Given the description of an element on the screen output the (x, y) to click on. 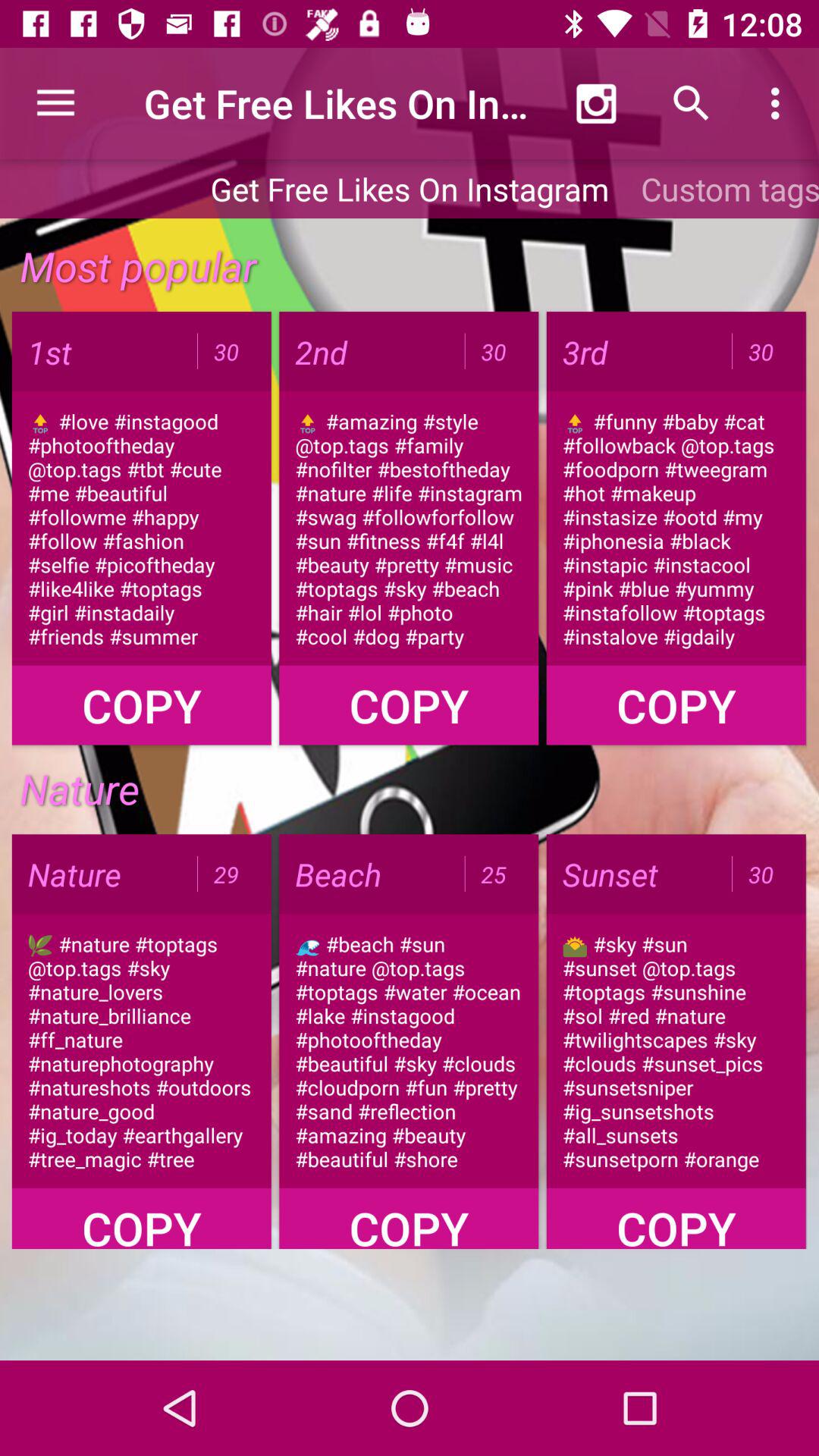
select app above the custom tags (779, 103)
